Given the description of an element on the screen output the (x, y) to click on. 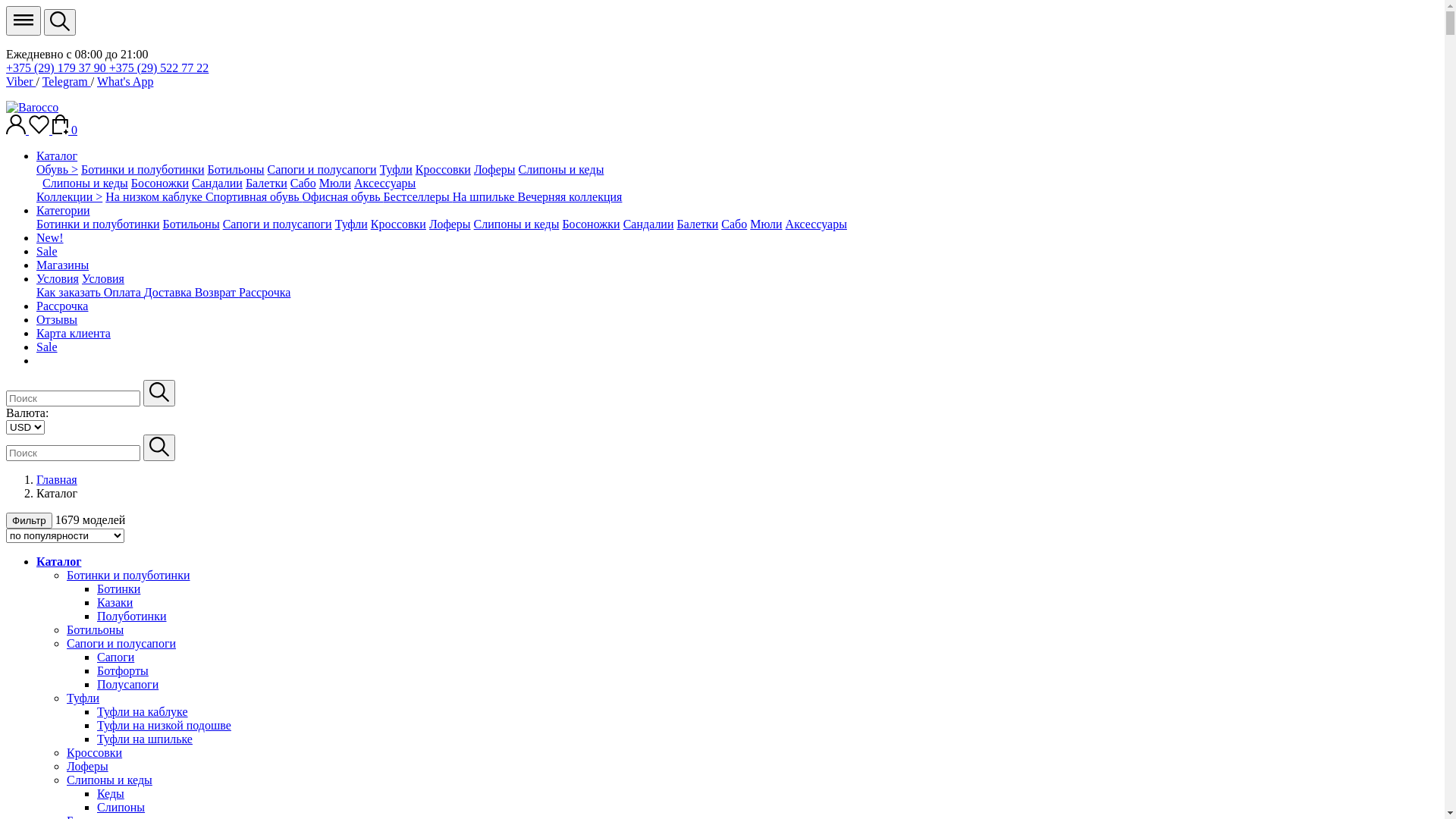
+375 (29) 522 77 22 Element type: text (159, 67)
Sale Element type: text (46, 250)
What's App Element type: text (125, 81)
0 Element type: text (64, 129)
Sale Element type: text (46, 346)
+375 (29) 179 37 90 Element type: text (57, 67)
  Element type: text (37, 182)
Telegram Element type: text (66, 81)
New! Element type: text (49, 237)
Viber Element type: text (20, 81)
